Given the description of an element on the screen output the (x, y) to click on. 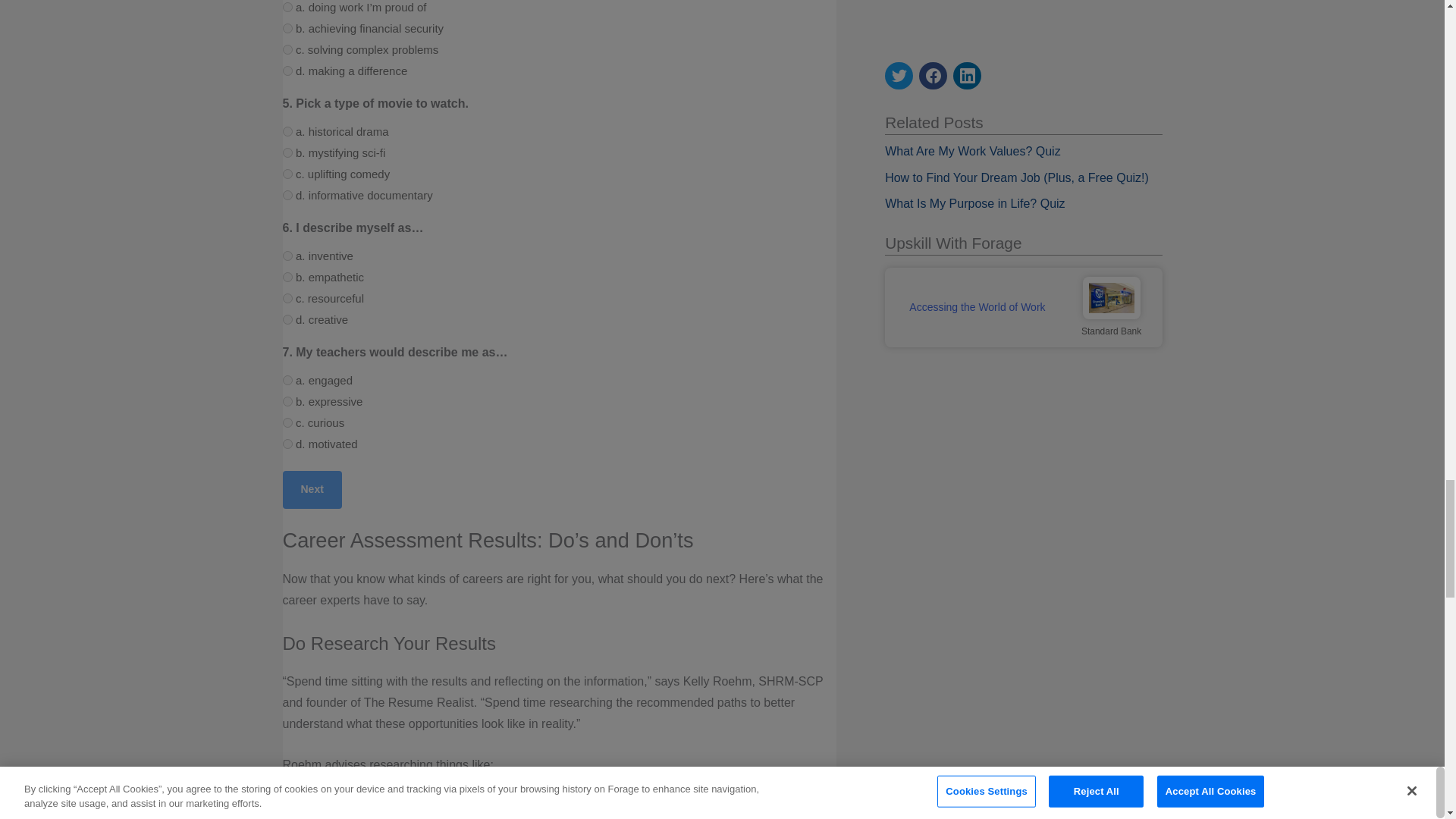
d (287, 173)
c (287, 71)
c (287, 131)
b (287, 153)
a (287, 194)
a (287, 28)
b (287, 49)
d (287, 7)
